Given the description of an element on the screen output the (x, y) to click on. 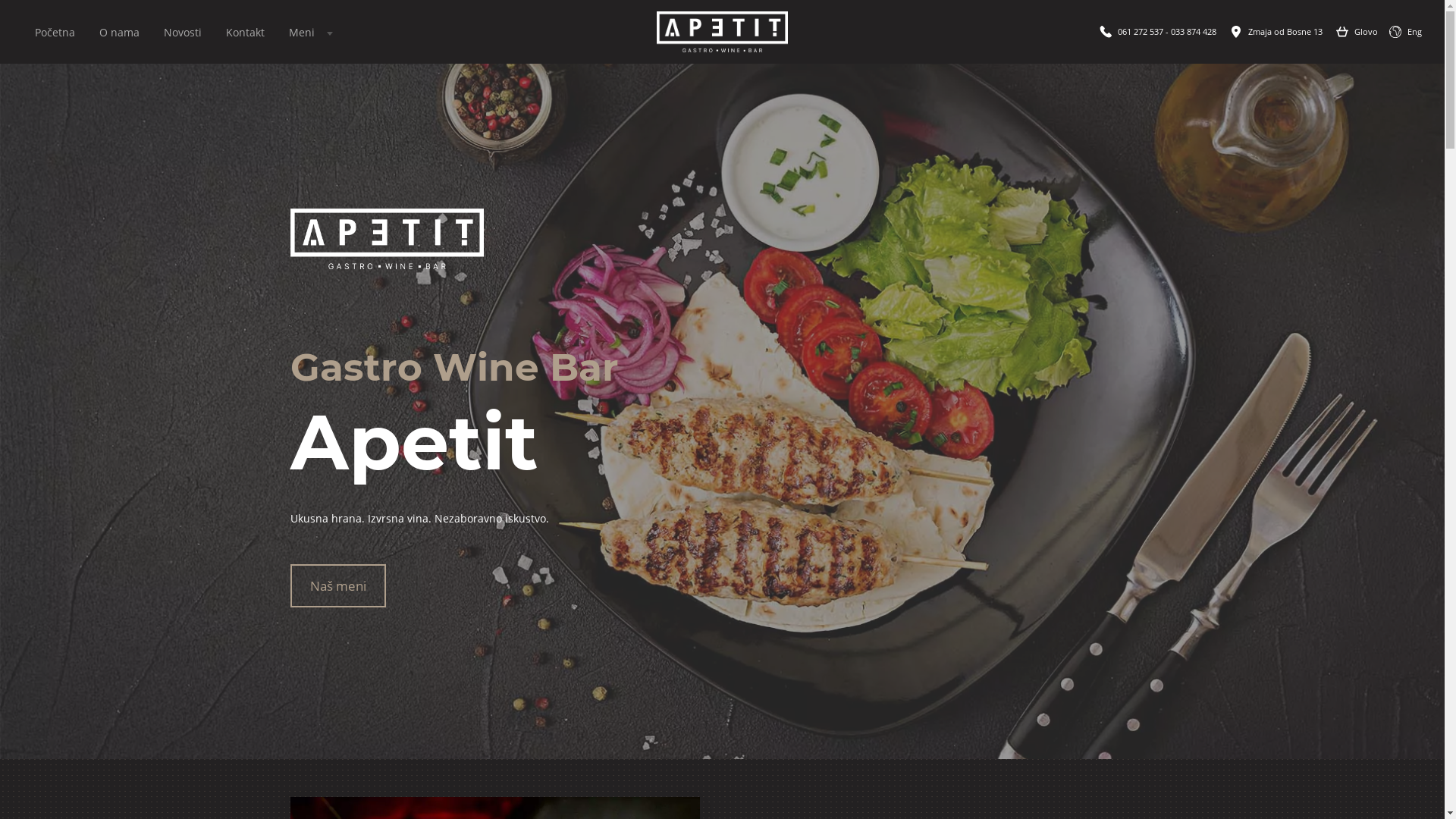
Kontakt Element type: text (244, 32)
Meni  Element type: text (309, 32)
Zmaja od Bosne 13 Element type: text (1285, 31)
Novosti Element type: text (182, 32)
061 272 537 - Element type: text (1142, 31)
O nama Element type: text (119, 32)
033 874 428 Element type: text (1193, 31)
Glovo Element type: text (1365, 31)
Eng Element type: text (1414, 31)
